Given the description of an element on the screen output the (x, y) to click on. 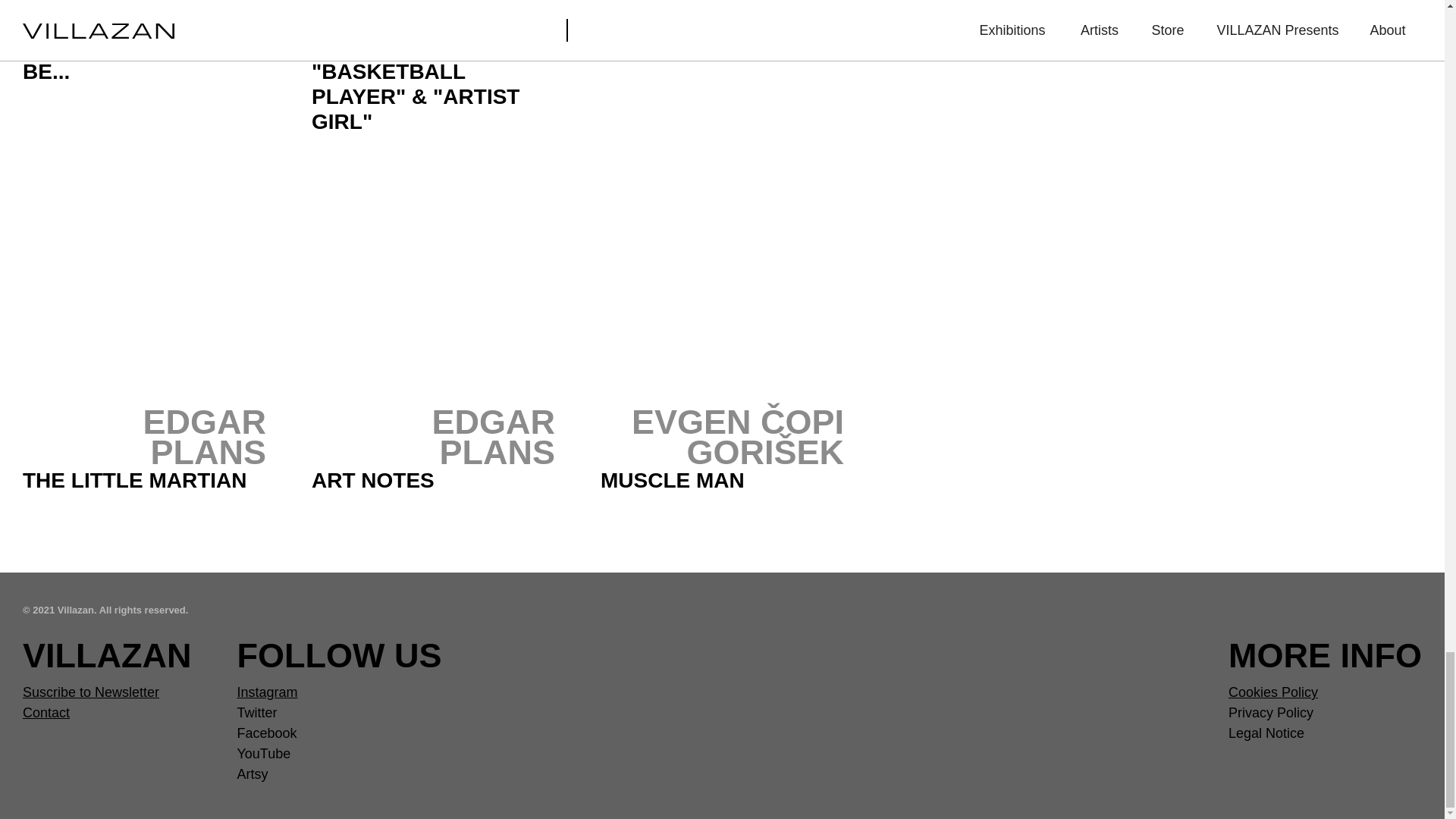
Instagram (266, 692)
Suscribe to Newsletter (90, 692)
Contact (46, 712)
Cookies Policy (1272, 692)
